Given the description of an element on the screen output the (x, y) to click on. 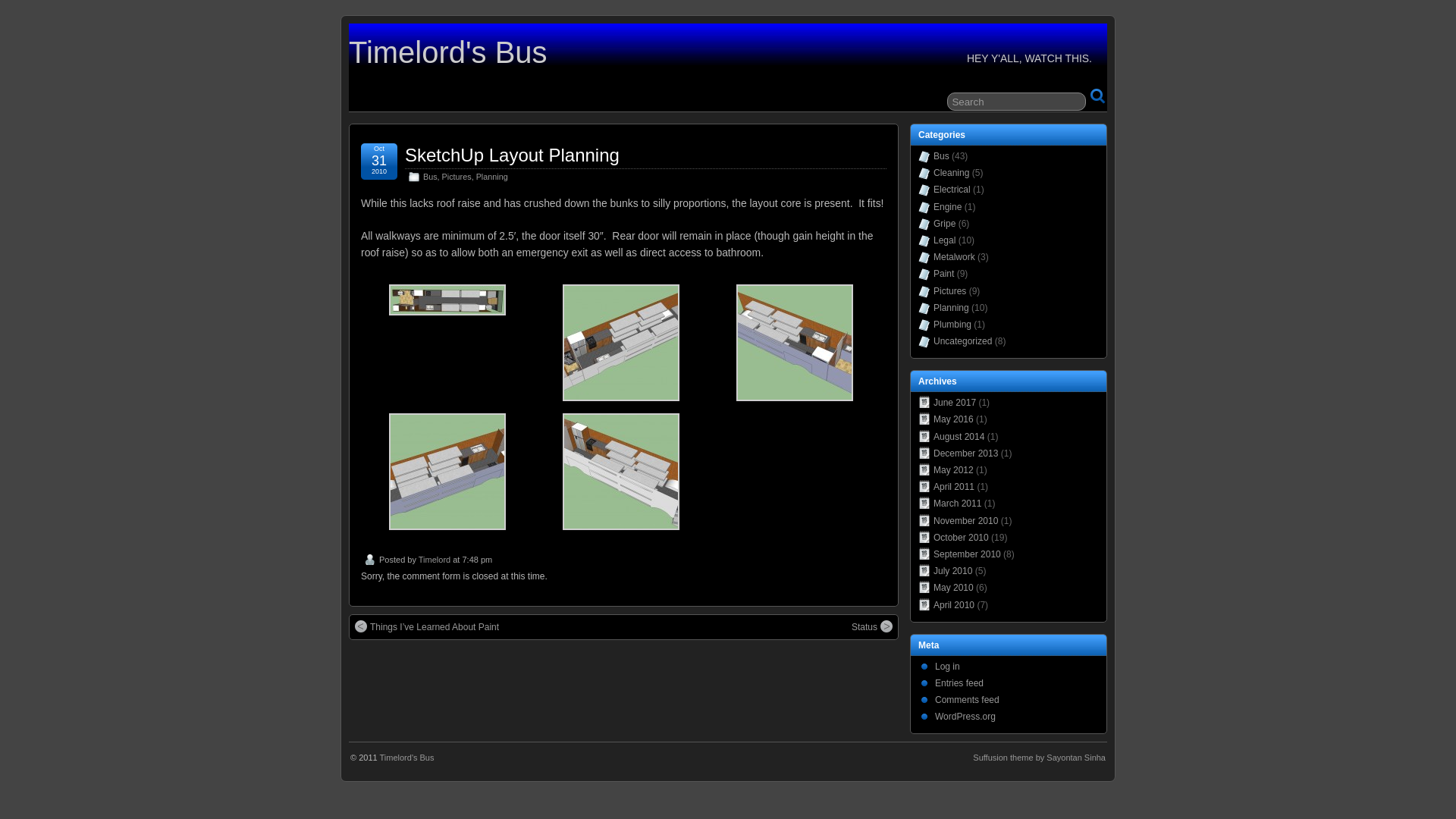
September 2010 Element type: text (967, 554)
WordPress.org Element type: text (965, 716)
April 2011 Element type: text (953, 486)
Timelord's Bus Element type: text (447, 52)
Comments feed Element type: text (967, 699)
Gripe Element type: text (944, 223)
May 2010 Element type: text (953, 587)
Metalwork Element type: text (954, 256)
July 2010 Element type: text (952, 570)
Electrical Element type: text (951, 189)
Paint Element type: text (943, 273)
Bus Element type: text (941, 155)
Suffusion theme by Sayontan Sinha Element type: text (1038, 757)
October 2010 Element type: text (960, 537)
Pictures Element type: text (949, 290)
December 2013 Element type: text (965, 453)
Plumbing Element type: text (952, 324)
Uncategorized Element type: text (962, 340)
Planning Element type: text (951, 307)
Planning Element type: text (492, 176)
May 2016 Element type: text (953, 419)
Entries feed Element type: text (959, 682)
Engine Element type: text (947, 206)
November 2010 Element type: text (965, 520)
Legal Element type: text (944, 240)
March 2011 Element type: text (957, 503)
Cleaning Element type: text (951, 172)
  Status Element type: text (871, 626)
April 2010 Element type: text (953, 604)
Timelord Element type: text (434, 559)
August 2014 Element type: text (958, 436)
SketchUp Layout Planning Element type: text (511, 154)
June 2017 Element type: text (954, 402)
Log in Element type: text (947, 666)
Pictures Element type: text (456, 176)
May 2012 Element type: text (953, 469)
Timelord's Bus Element type: text (406, 757)
Bus Element type: text (430, 176)
